Given the description of an element on the screen output the (x, y) to click on. 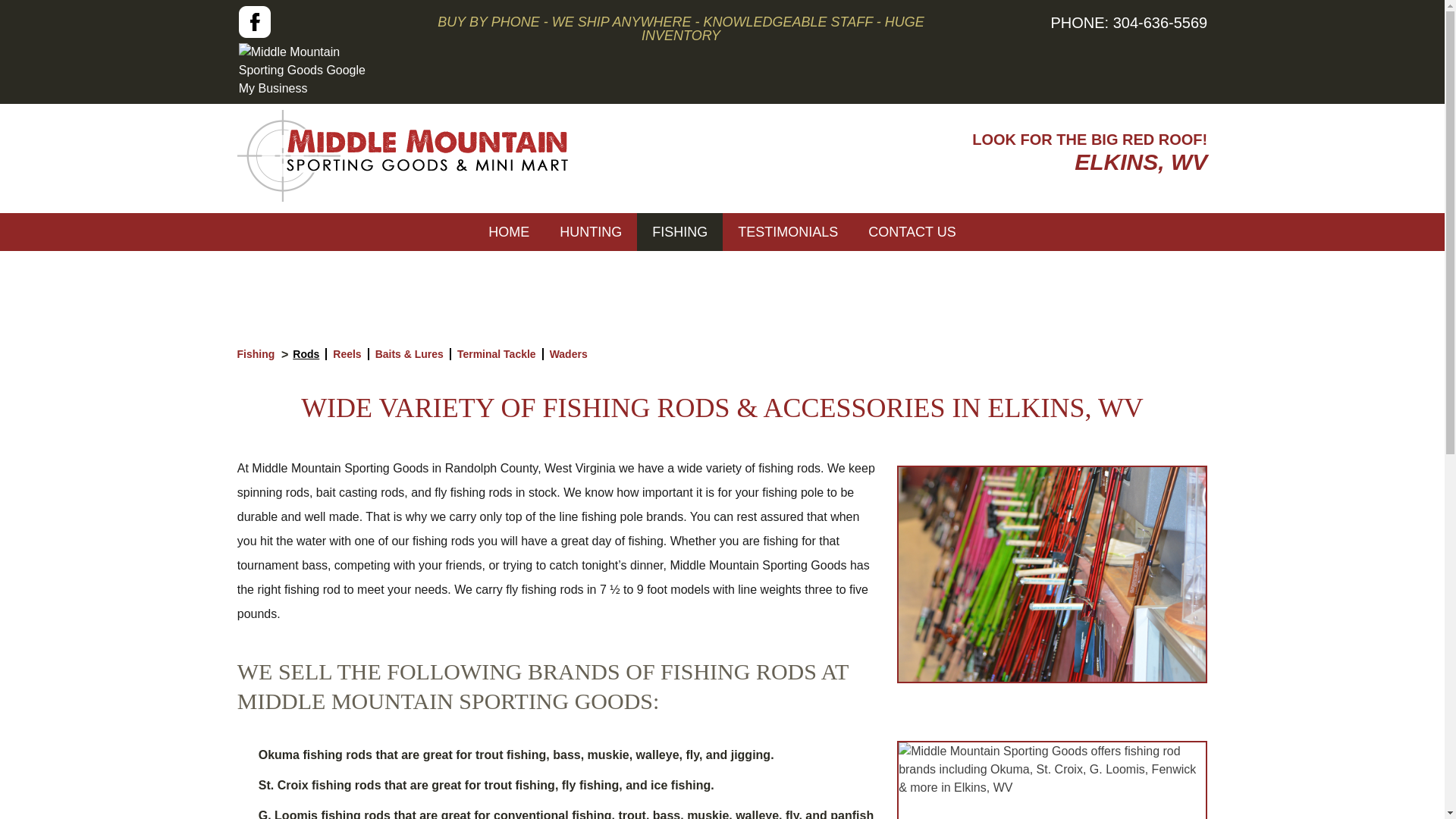
Fishing (255, 354)
HOME (508, 231)
FISHING (679, 231)
HUNTING (590, 231)
Waders (569, 354)
Reels (347, 354)
PHONE: 304-636-5569 (1128, 22)
CONTACT US (912, 231)
TESTIMONIALS (787, 231)
Rods (305, 354)
Terminal Tackle (496, 354)
